Given the description of an element on the screen output the (x, y) to click on. 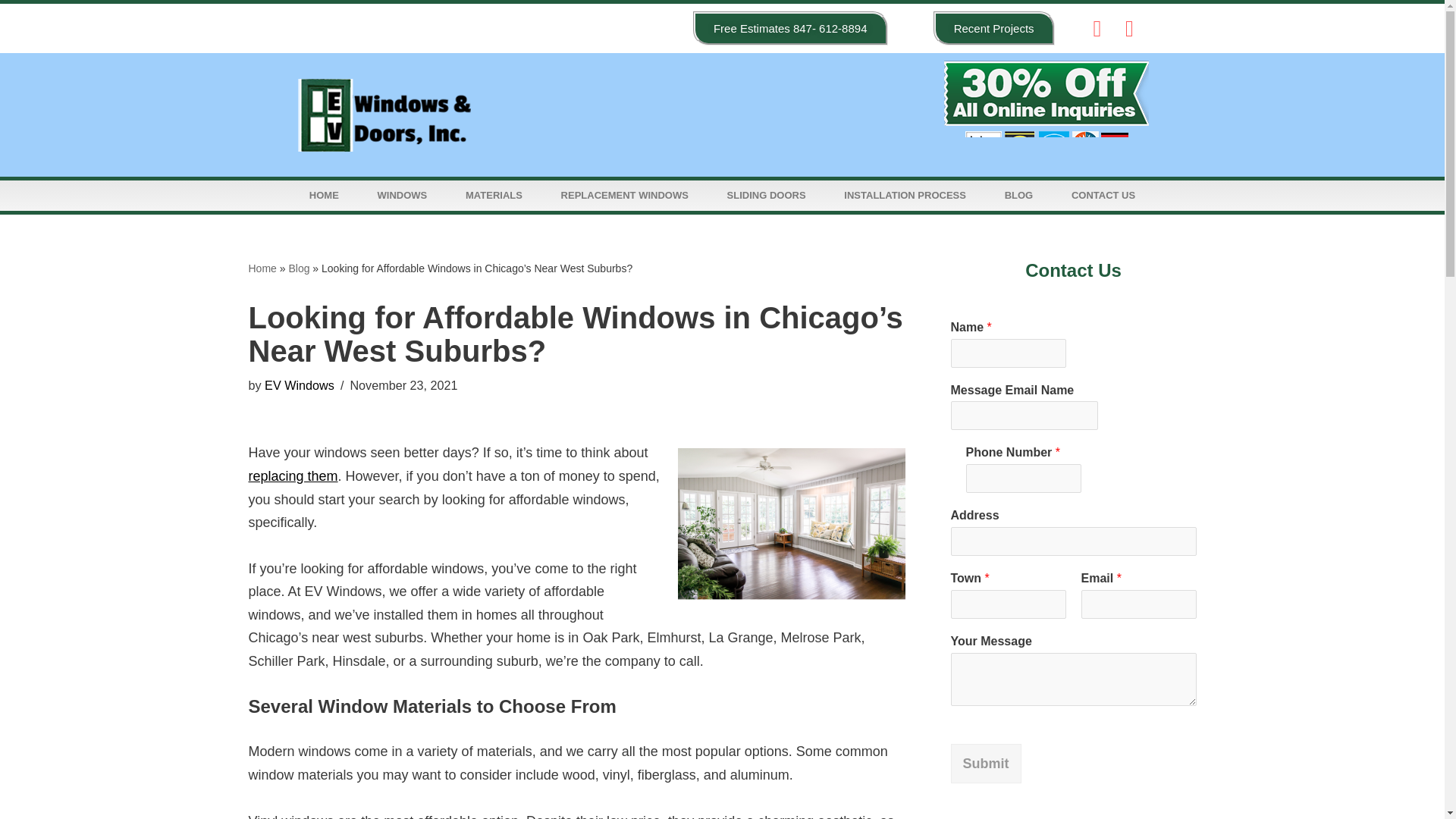
BLOG (1018, 195)
WINDOWS (401, 195)
REPLACEMENT WINDOWS (624, 195)
MATERIALS (493, 195)
HOME (323, 195)
CONTACT US (1103, 195)
SLIDING DOORS (766, 195)
Free Estimates 847- 612-8894 (790, 28)
Skip to content (11, 31)
Posts by EV Windows (299, 385)
